Given the description of an element on the screen output the (x, y) to click on. 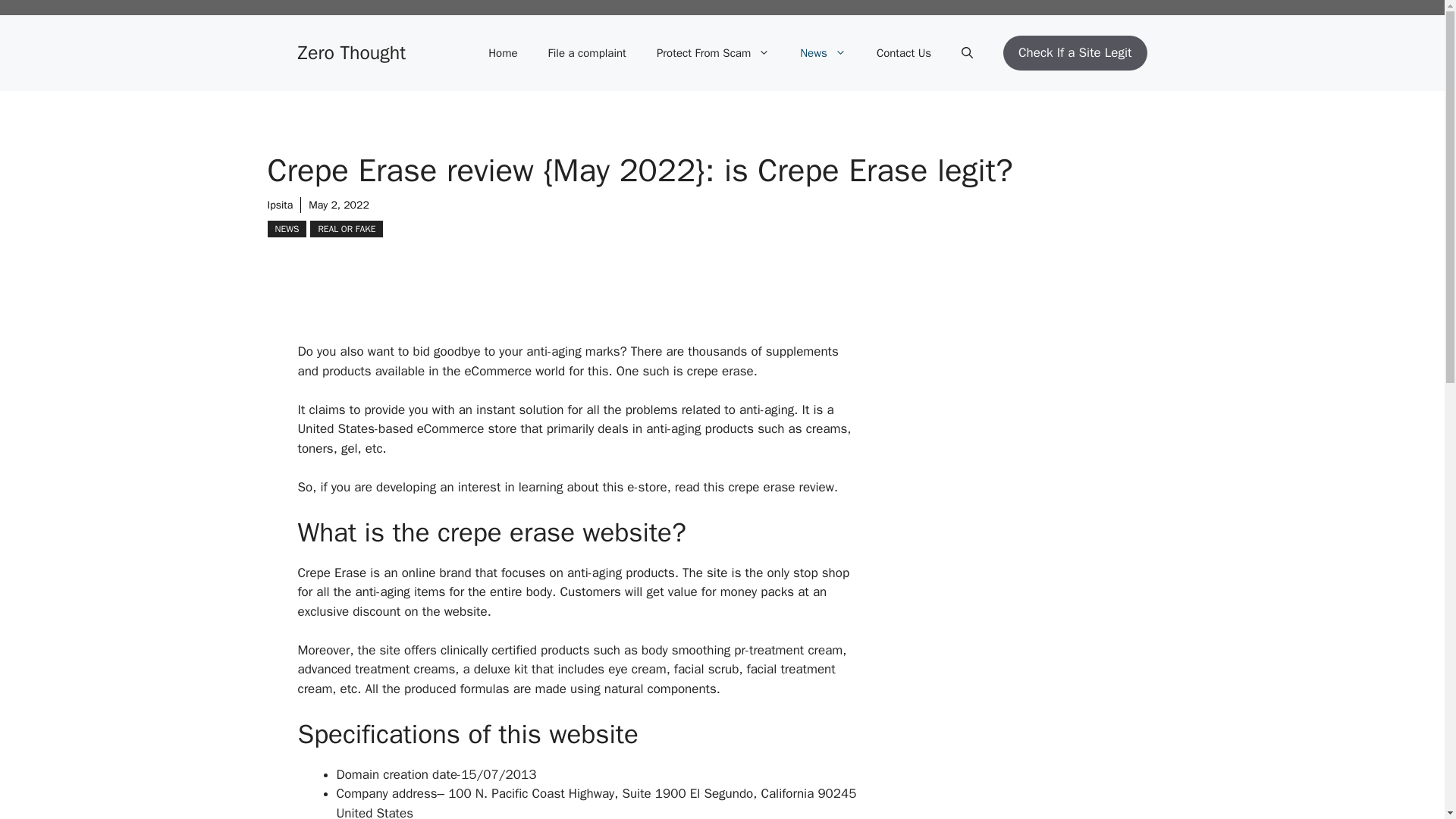
Zero Thought (351, 52)
REAL OR FAKE (346, 228)
Check If a Site Legit (1075, 53)
Protect From Scam (713, 53)
File a complaint (587, 53)
Contact Us (903, 53)
NEWS (285, 228)
News (822, 53)
Ipsita (279, 205)
Home (502, 53)
